Given the description of an element on the screen output the (x, y) to click on. 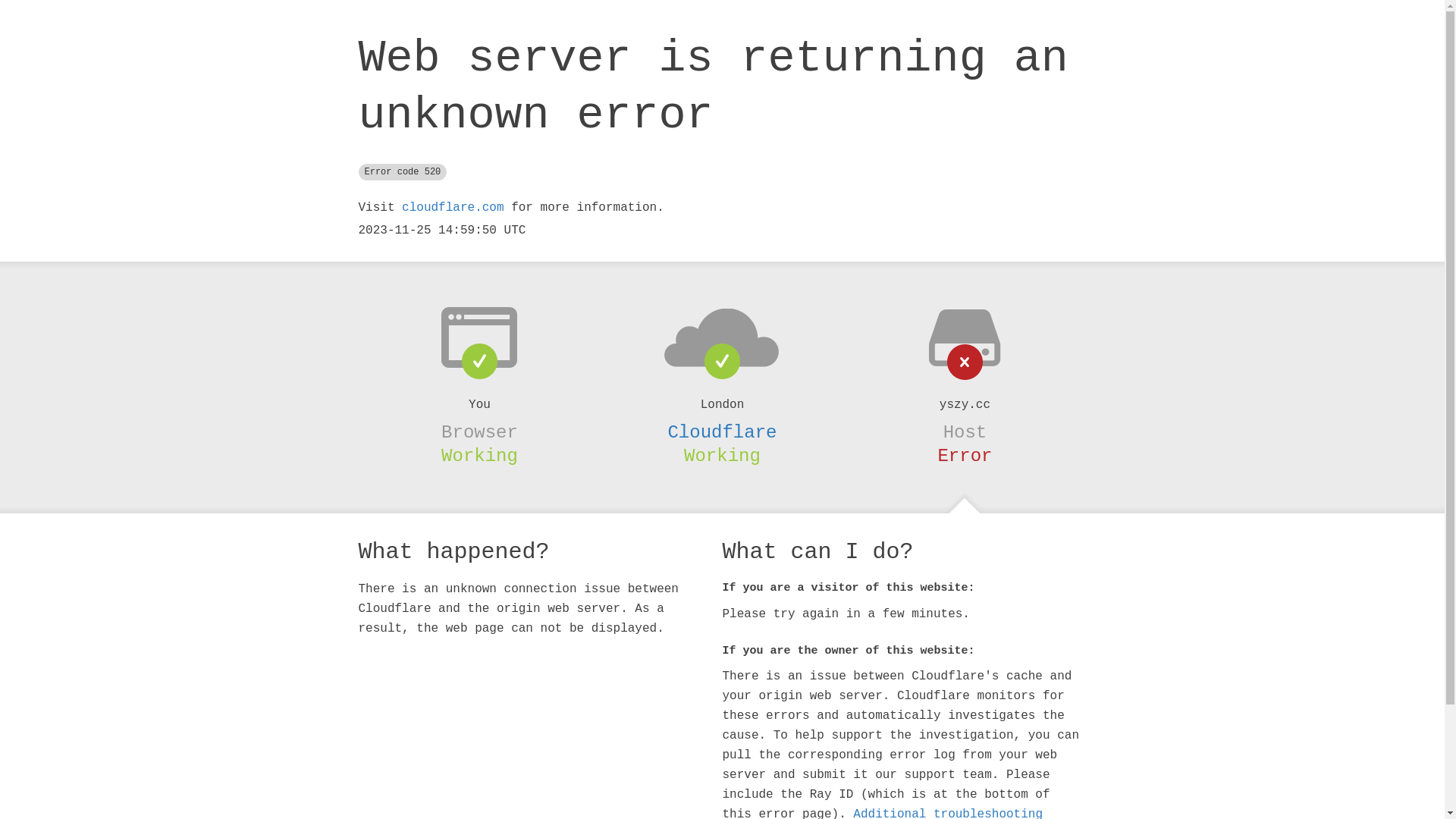
cloudflare.com Element type: text (452, 207)
Cloudflare Element type: text (721, 432)
